Given the description of an element on the screen output the (x, y) to click on. 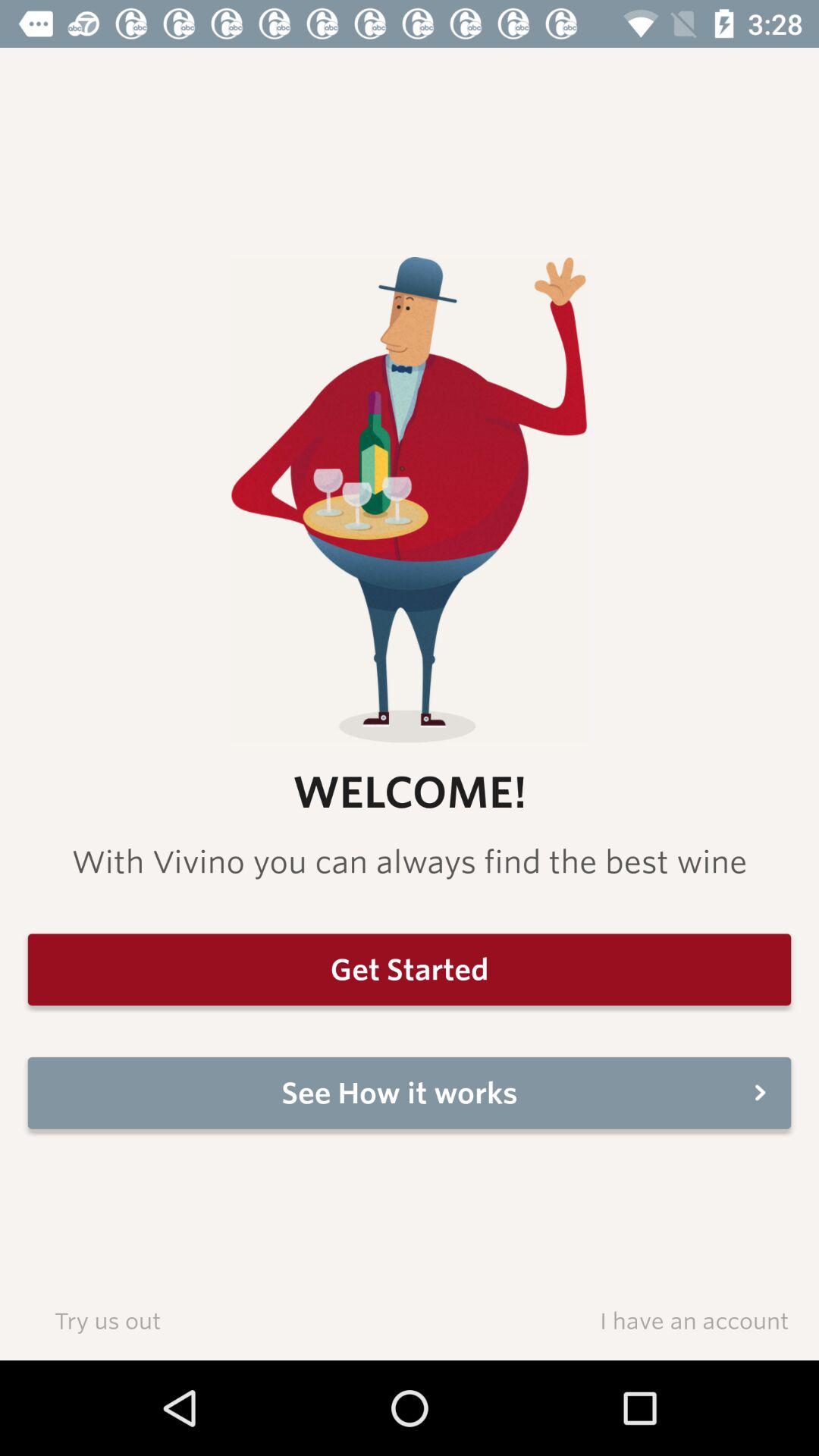
click see how it item (409, 1092)
